Given the description of an element on the screen output the (x, y) to click on. 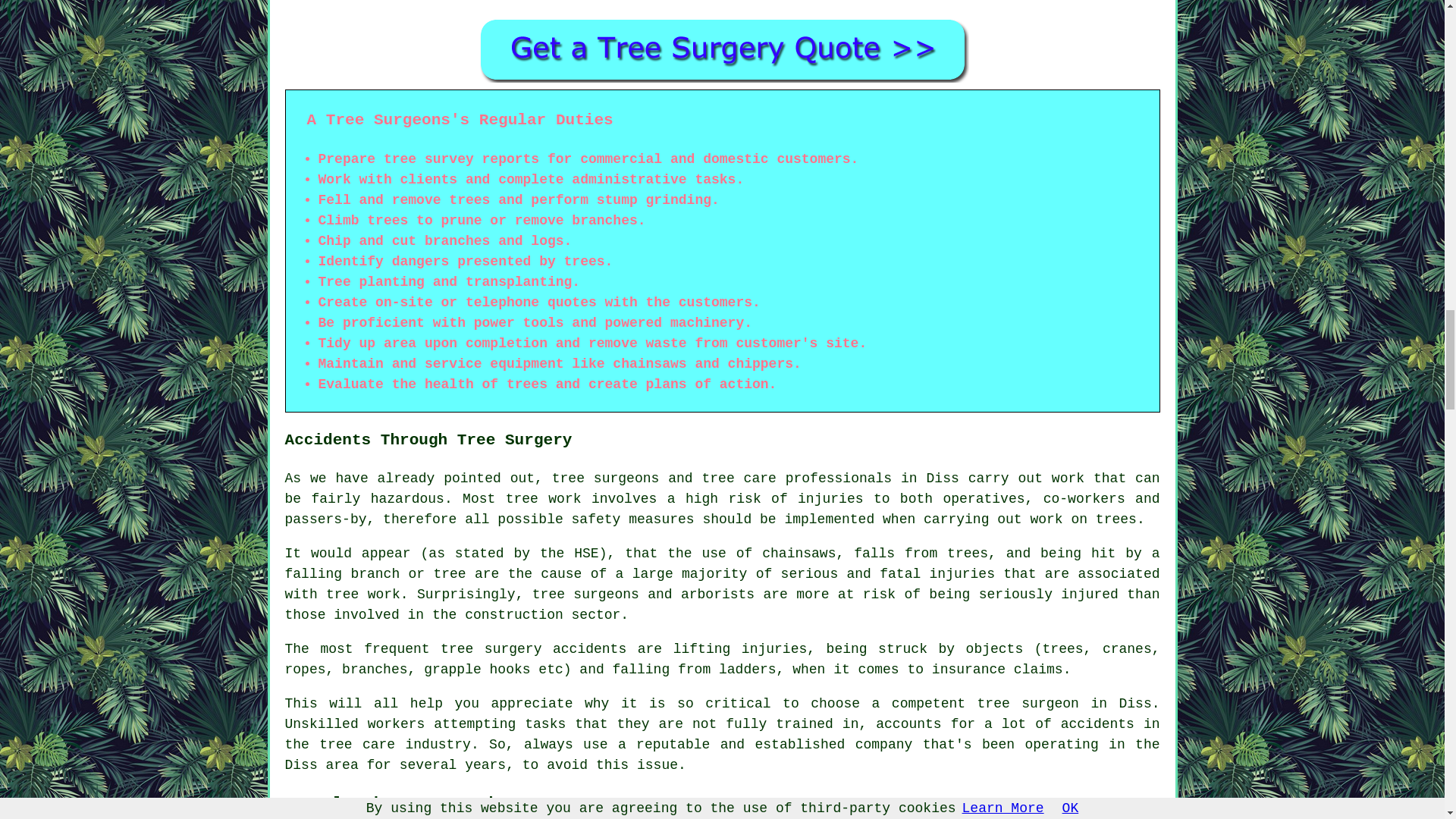
Click For Diss Tree Surgery Quotes (722, 49)
